Given the description of an element on the screen output the (x, y) to click on. 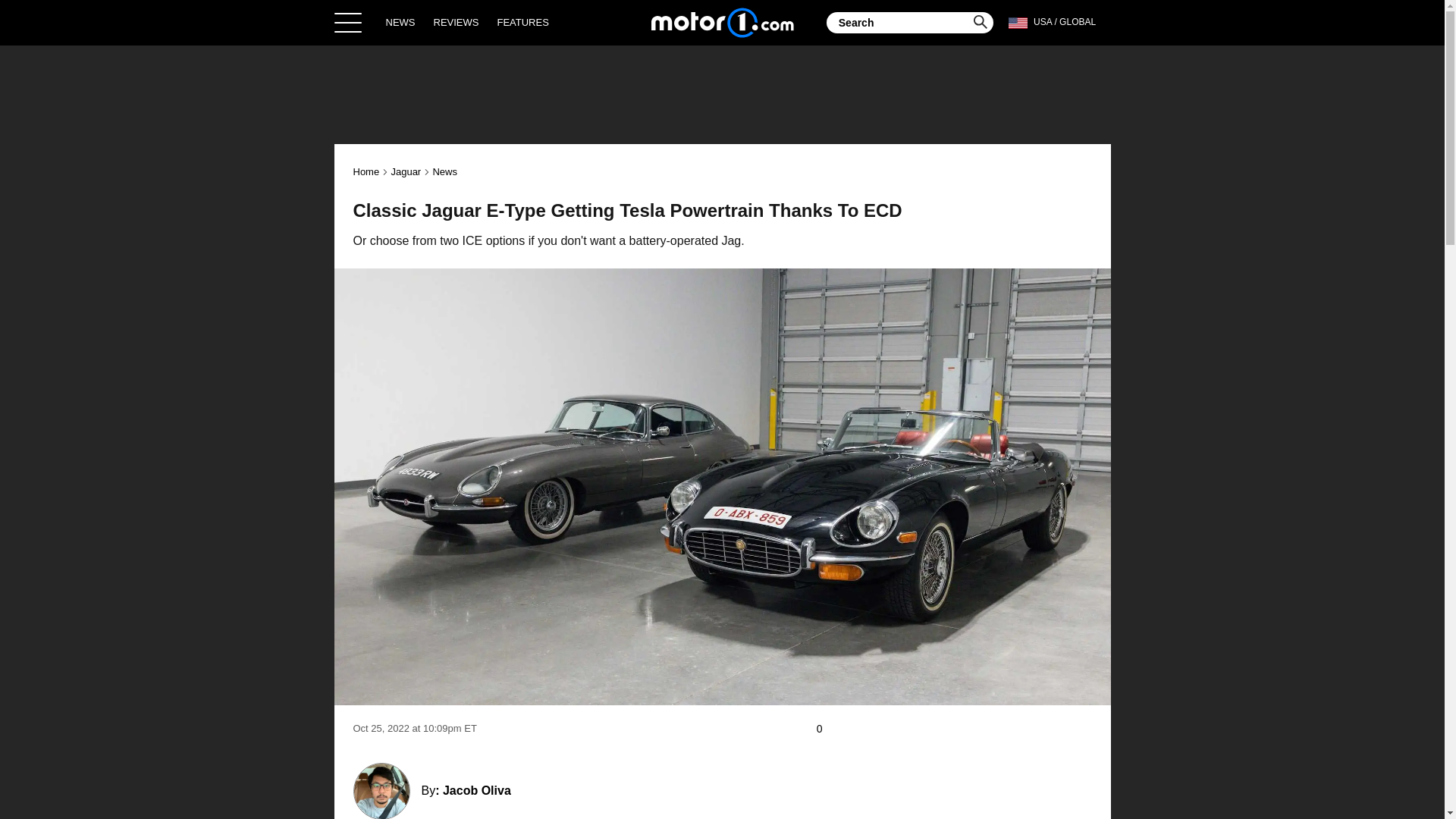
0 (826, 728)
REVIEWS (456, 22)
FEATURES (522, 22)
Home (721, 22)
NEWS (399, 22)
Jacob Oliva (476, 789)
News (444, 171)
Jaguar (405, 171)
Home (366, 171)
